Given the description of an element on the screen output the (x, y) to click on. 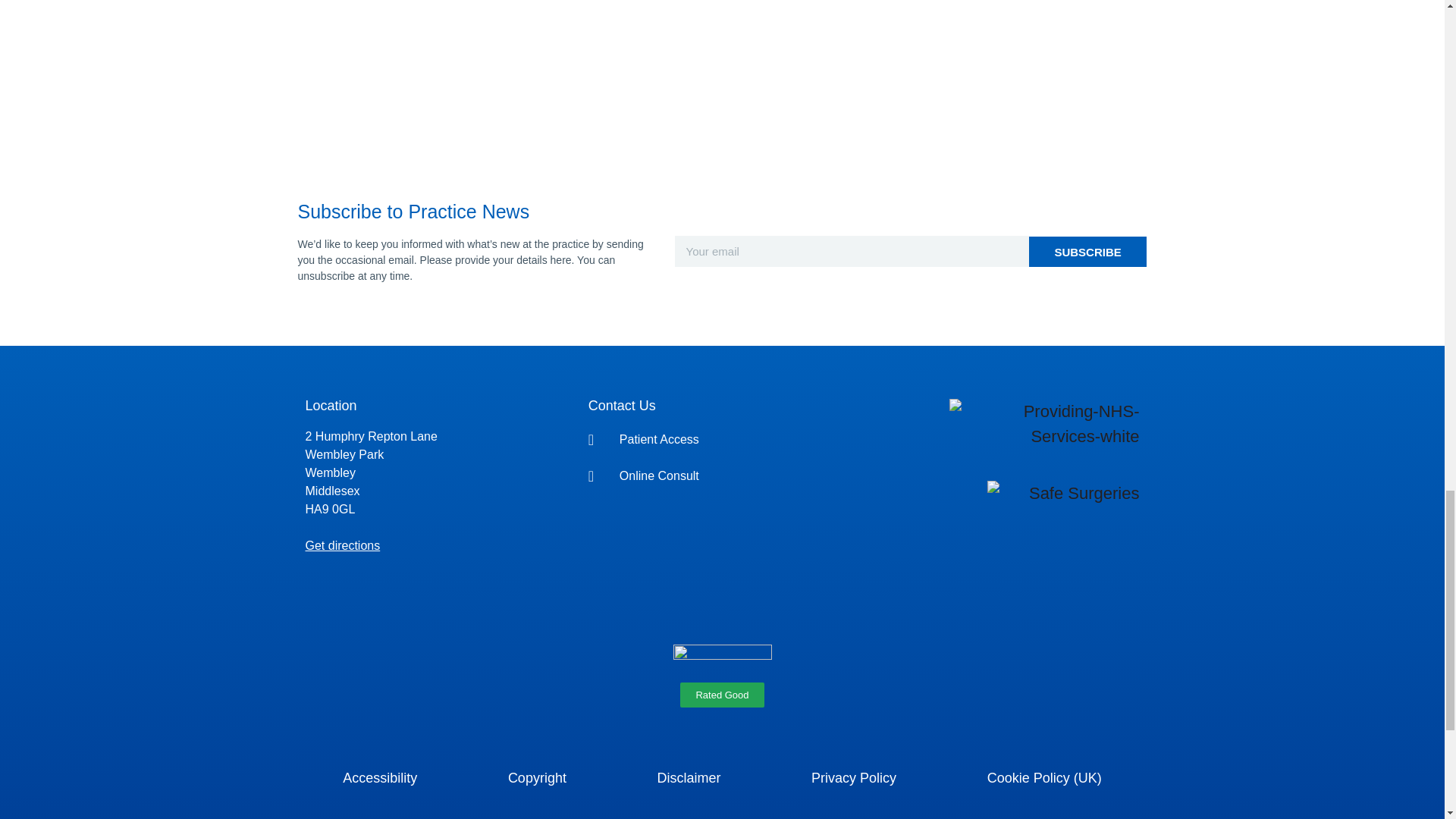
Copyright (537, 777)
Rated Good (720, 694)
Get directions (342, 545)
Accessibility (380, 777)
Disclaimer (689, 777)
SUBSCRIBE (1088, 251)
Providing-NHS-Services-white (1043, 423)
Online Consult (722, 476)
safe-surgeries-logo-trans (1062, 493)
Patient Access (722, 439)
